Given the description of an element on the screen output the (x, y) to click on. 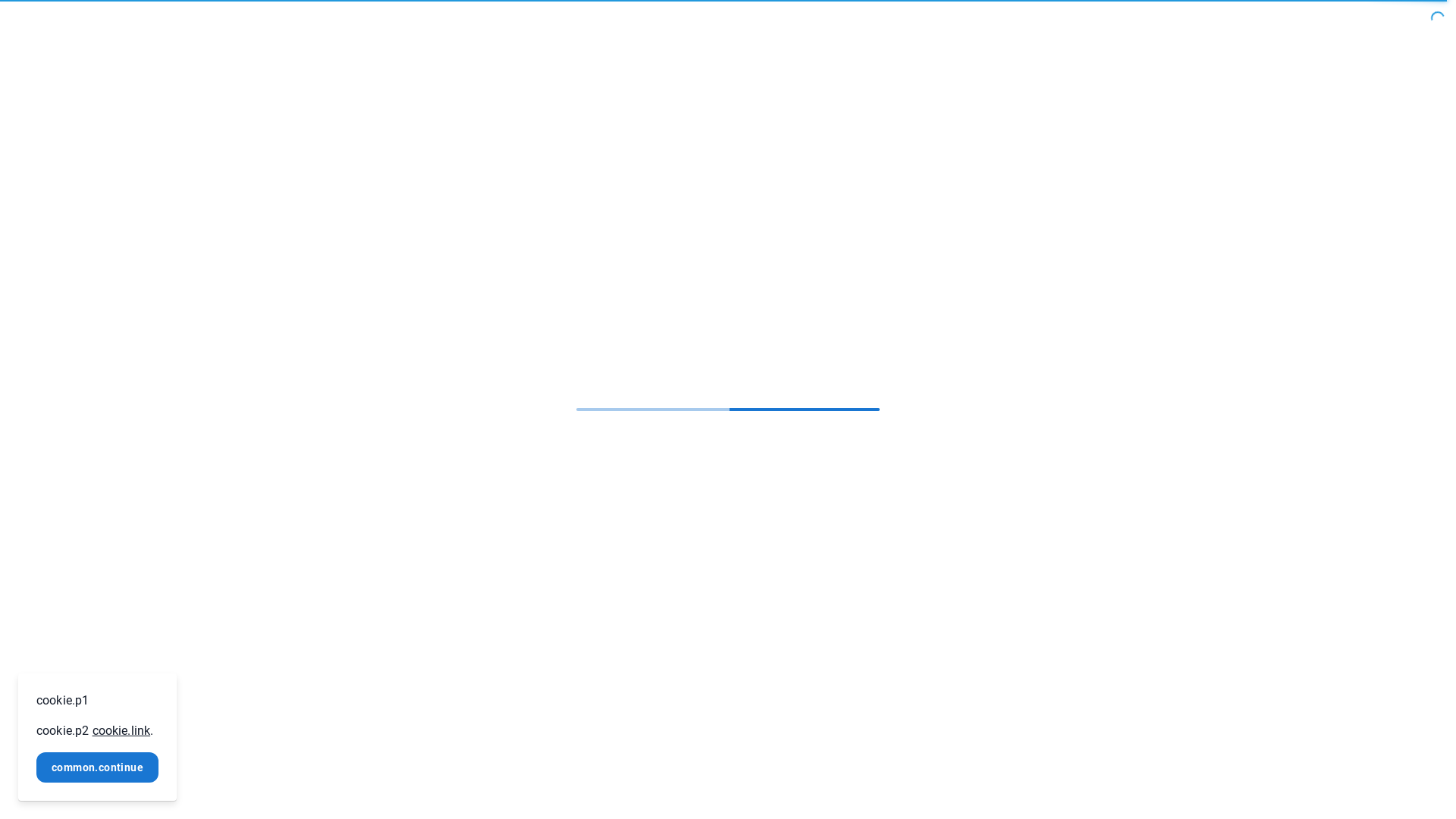
cookie.link Element type: text (121, 730)
common.continue Element type: text (97, 767)
